Given the description of an element on the screen output the (x, y) to click on. 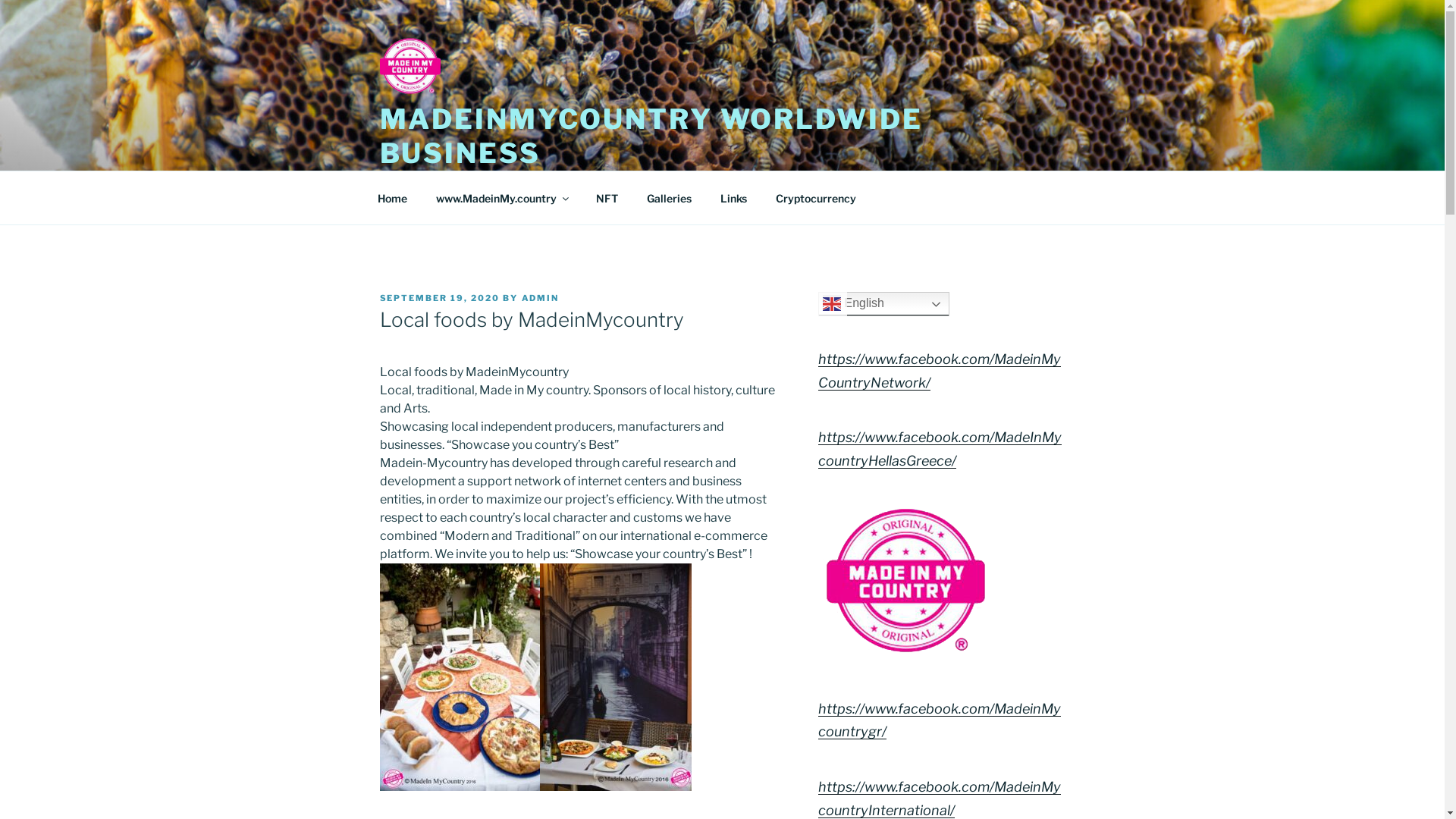
ADMIN Element type: text (540, 297)
SEPTEMBER 19, 2020 Element type: text (439, 297)
MADEINMYCOUNTRY WORLDWIDE BUSINESS Element type: text (650, 135)
Cryptocurrency Element type: text (815, 197)
https://www.facebook.com/MadeInMycountryHellasGreece/ Element type: text (939, 448)
Galleries Element type: text (669, 197)
Links Element type: text (732, 197)
https://www.facebook.com/MadeinMyCountryNetwork/ Element type: text (939, 370)
English Element type: text (883, 303)
NFT Element type: text (606, 197)
www.MadeinMy.country Element type: text (501, 197)
Home Element type: text (392, 197)
https://www.facebook.com/MadeinMycountryInternational/ Element type: text (939, 798)
https://www.facebook.com/MadeinMycountrygr/ Element type: text (939, 720)
